Given the description of an element on the screen output the (x, y) to click on. 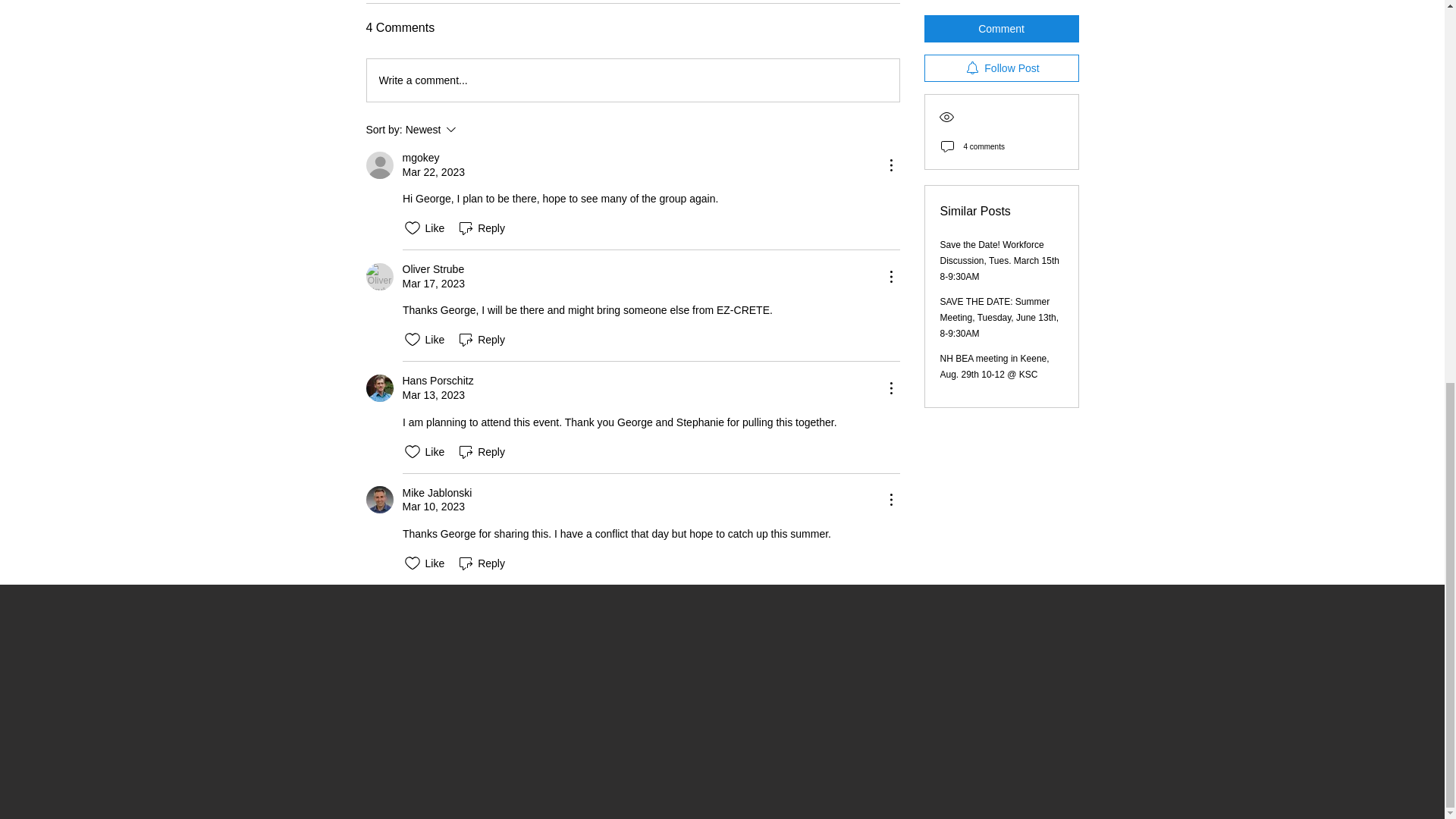
Hans Porschitz (379, 388)
Reply (481, 452)
Mike Jablonski (471, 129)
mgokey (436, 493)
Hans Porschitz (420, 157)
Mike Jablonski (437, 380)
Oliver Strube (379, 499)
Reply (432, 269)
Reply (481, 563)
Write a comment... (481, 339)
Oliver Strube (632, 79)
Reply (379, 276)
